Given the description of an element on the screen output the (x, y) to click on. 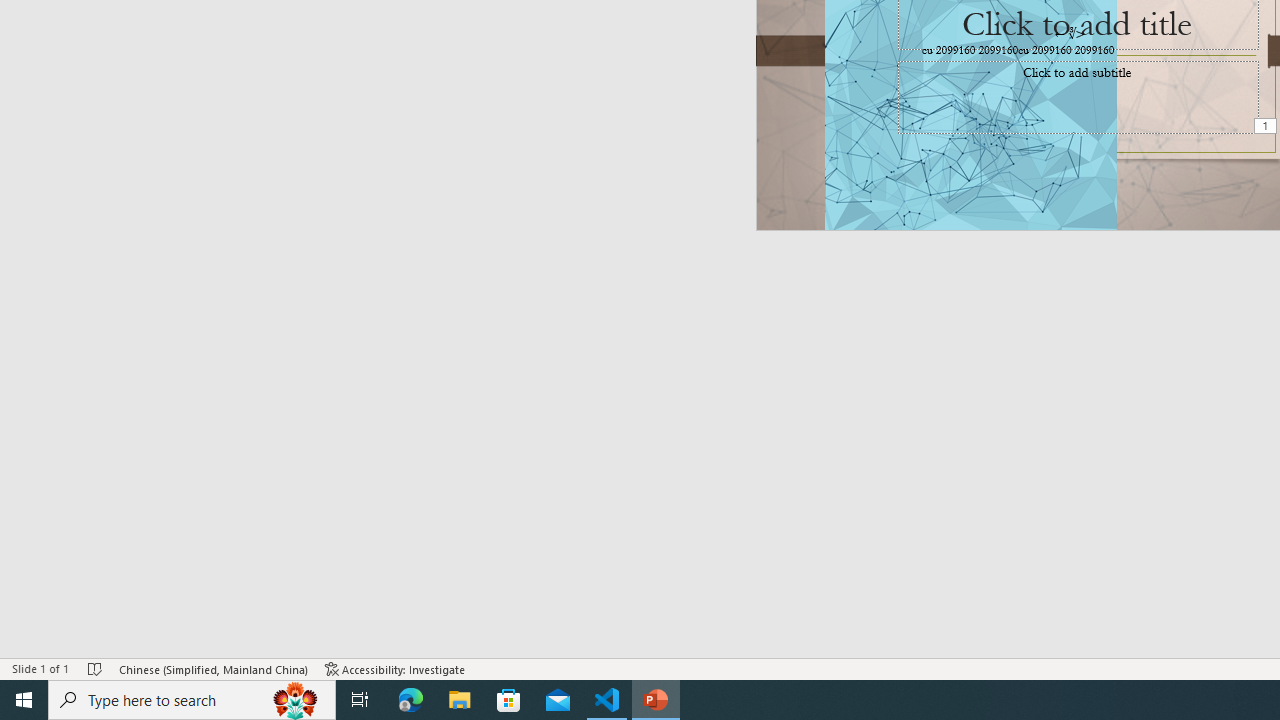
TextBox 61 (1074, 51)
Subtitle TextBox (1078, 97)
Animation, sequence 1, on Camera 9 (1267, 127)
TextBox 7 (1069, 33)
